Given the description of an element on the screen output the (x, y) to click on. 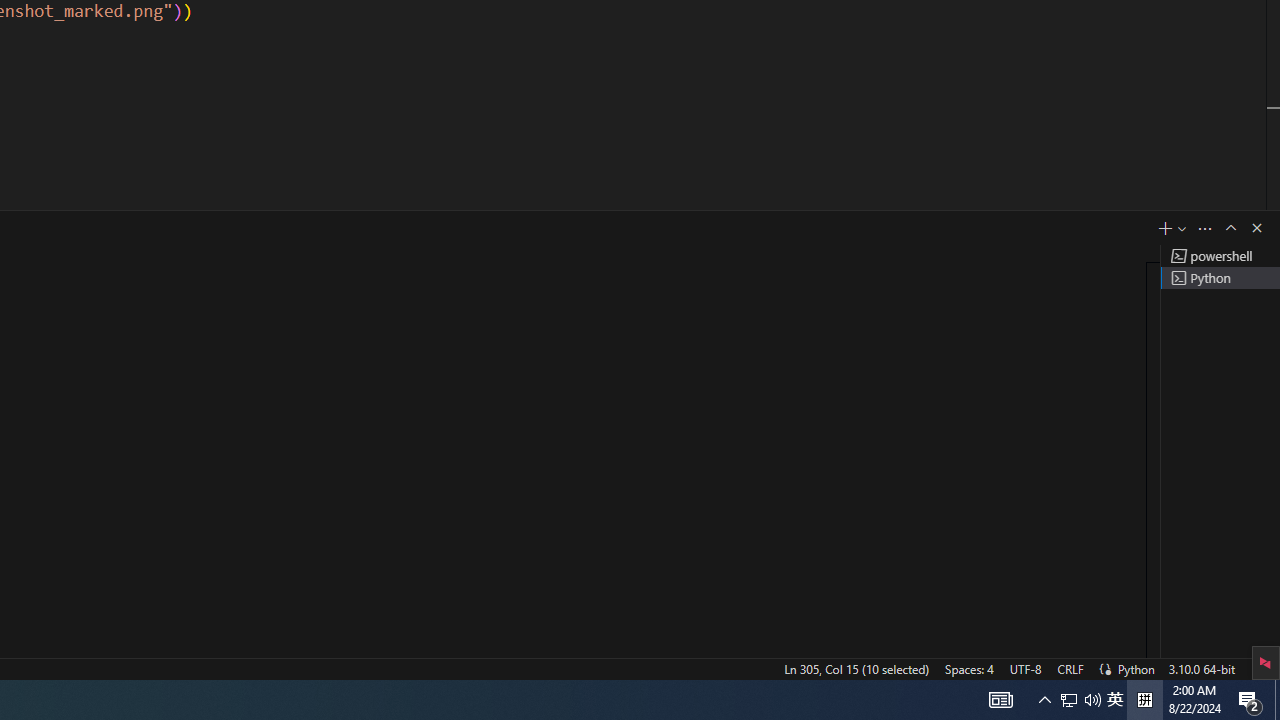
Ln 305, Col 15 (10 selected) (856, 668)
